Given the description of an element on the screen output the (x, y) to click on. 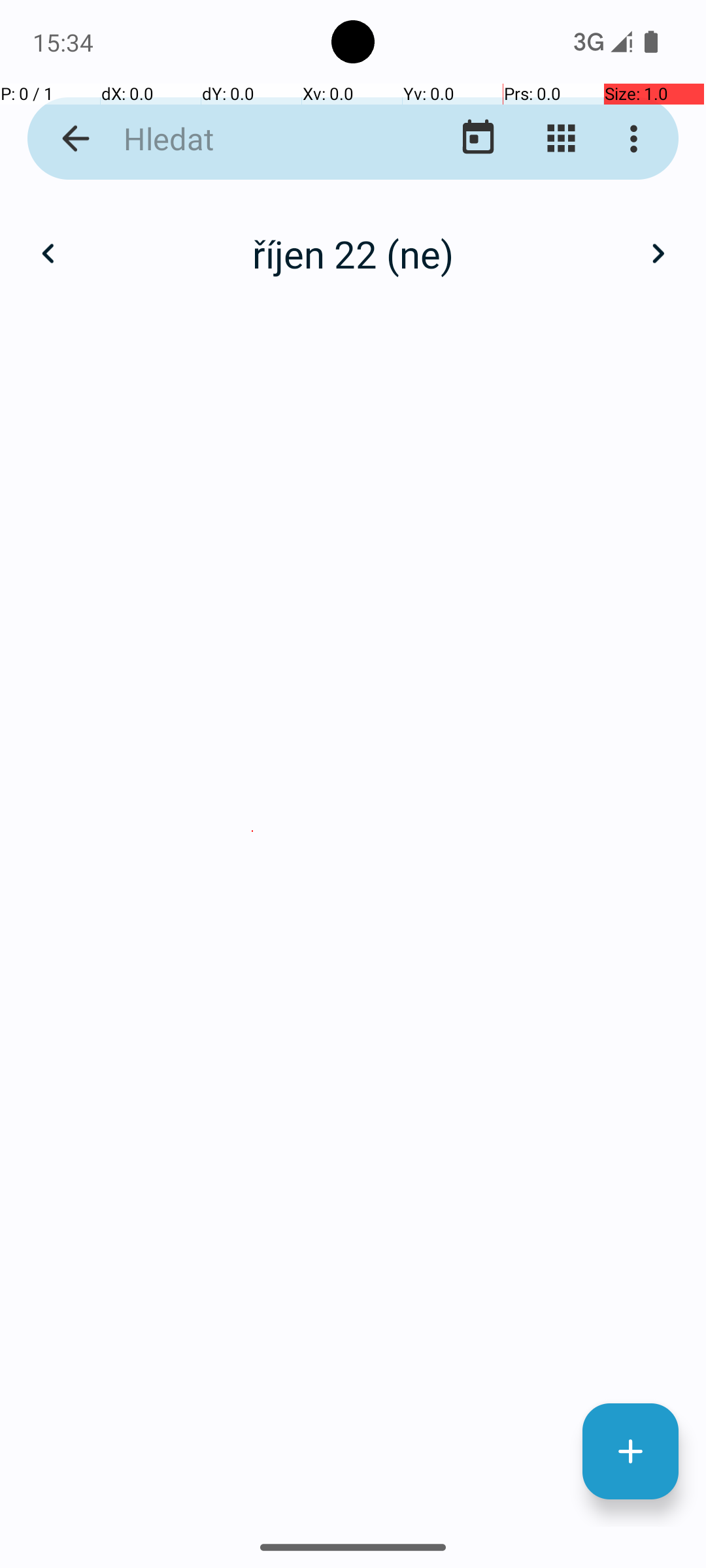
Přejít na dnešní datum Element type: android.widget.Button (477, 138)
říjen 22 (ne) Element type: android.widget.TextView (352, 253)
